Given the description of an element on the screen output the (x, y) to click on. 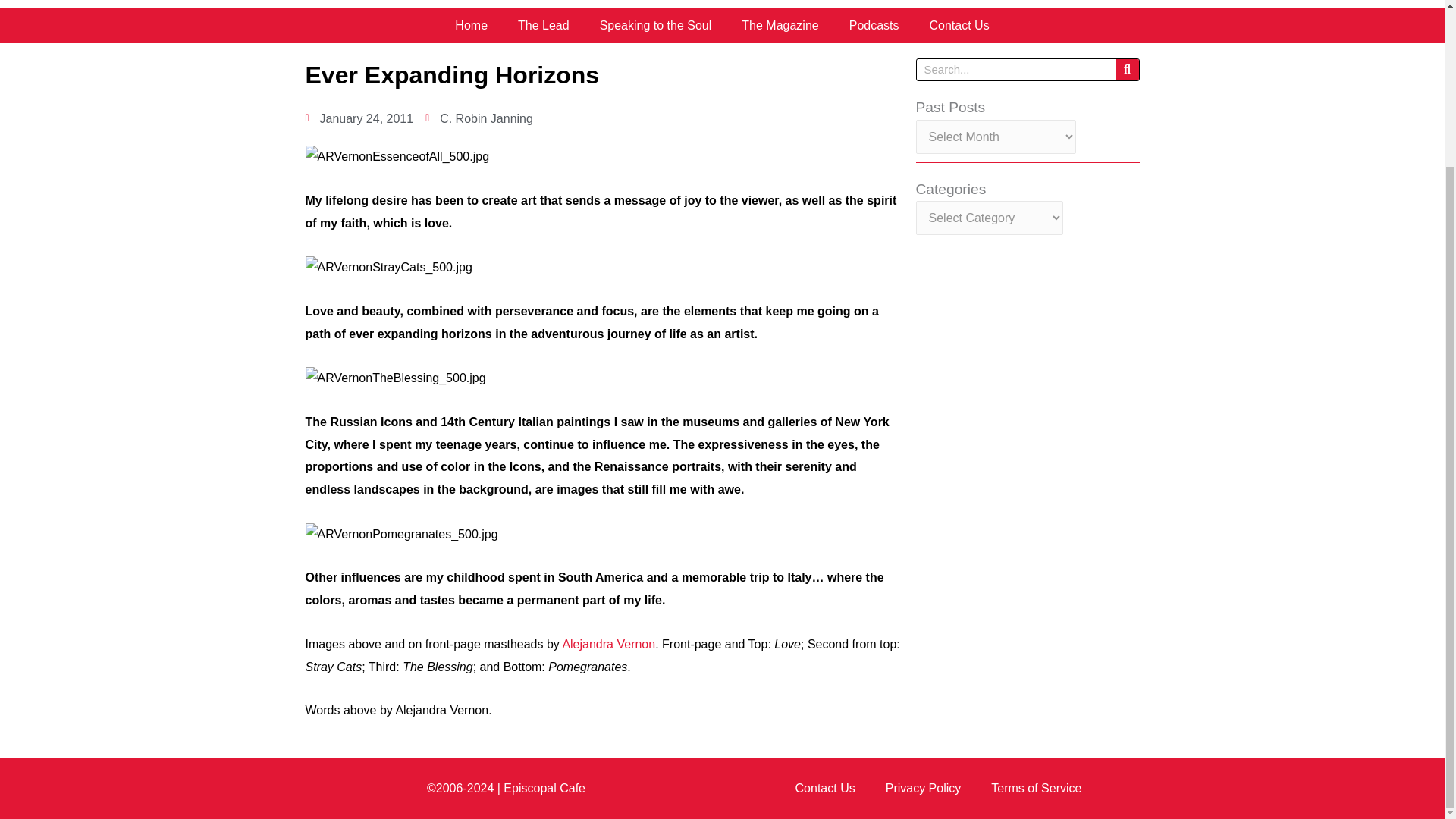
Privacy Policy (923, 788)
The Magazine (779, 25)
Home (470, 25)
Contact Us (825, 788)
Podcasts (874, 25)
The Lead (543, 25)
Search (1127, 69)
Speaking to the Soul (655, 25)
January 24, 2011 (358, 118)
Contact Us (959, 25)
Alejandra Vernon (608, 644)
C. Robin Janning (478, 118)
Terms of Service (1035, 788)
